Given the description of an element on the screen output the (x, y) to click on. 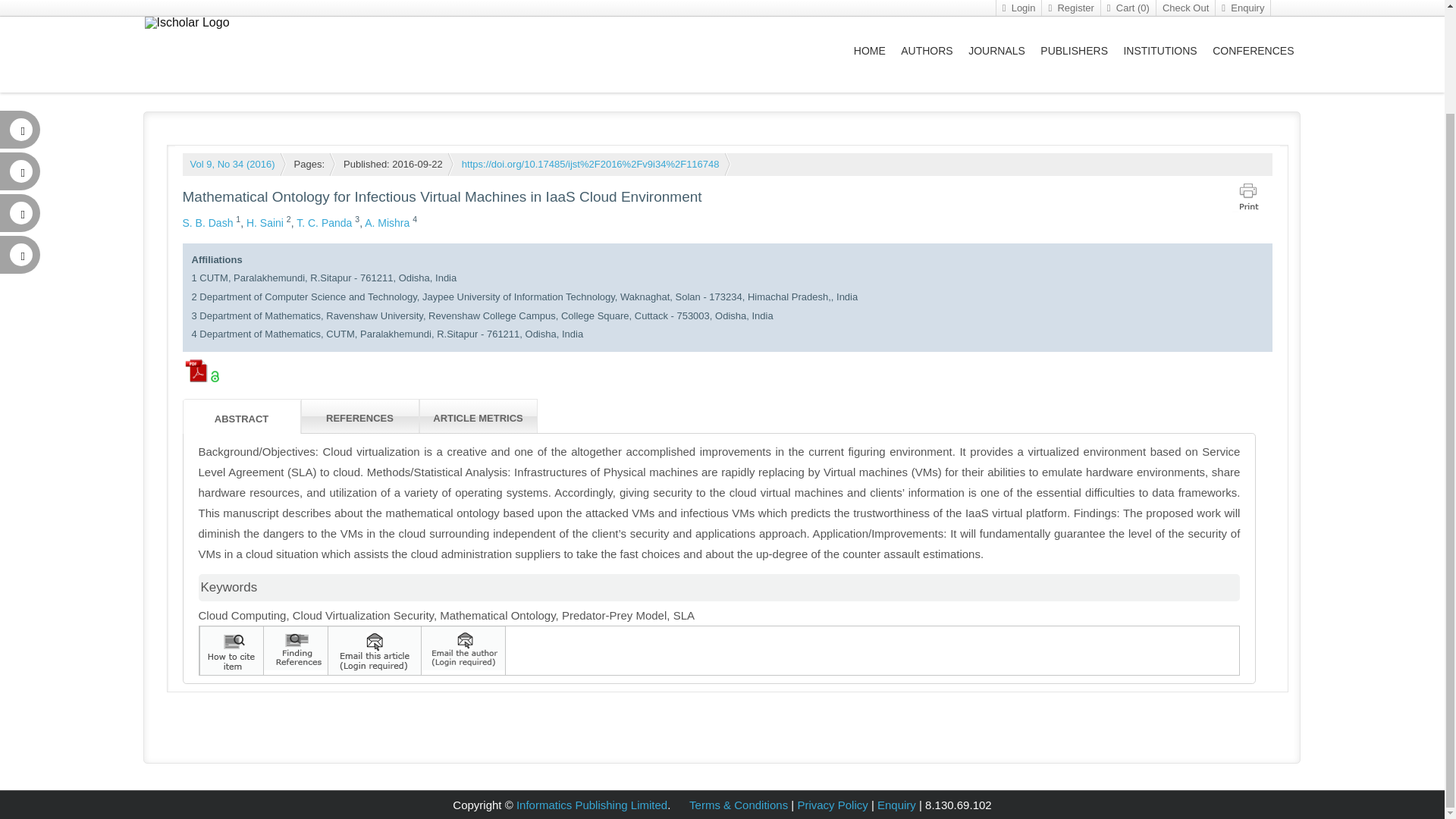
Facebook (16, 51)
Search (1271, 22)
Youtube (16, 133)
Home (171, 71)
Linkedin (16, 92)
Twitter (16, 9)
Search (1271, 22)
Home (237, 164)
Archives (285, 71)
Institutions (408, 71)
Current (225, 71)
Authors (343, 71)
